Given the description of an element on the screen output the (x, y) to click on. 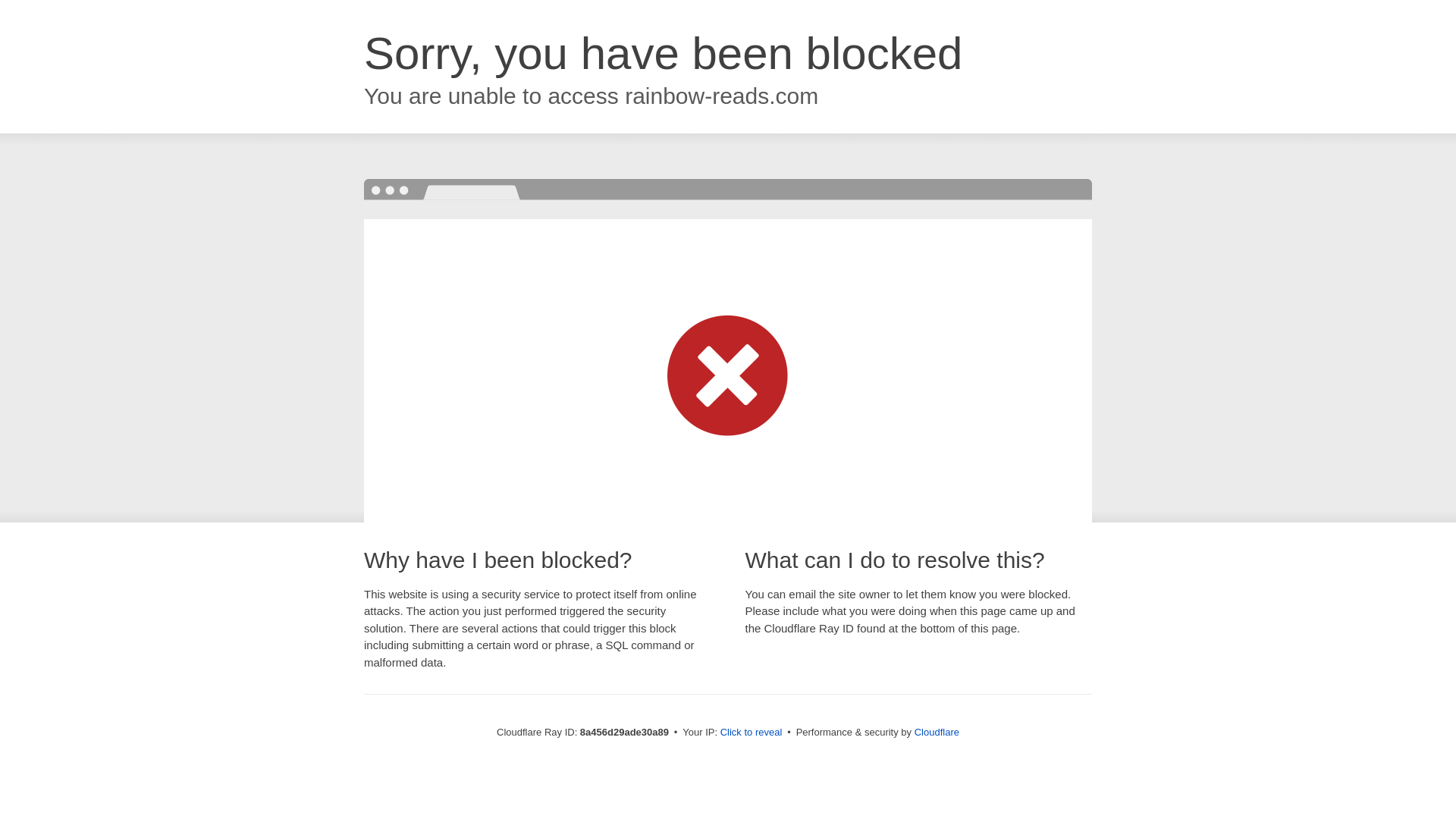
Click to reveal (751, 732)
Cloudflare (936, 731)
